Given the description of an element on the screen output the (x, y) to click on. 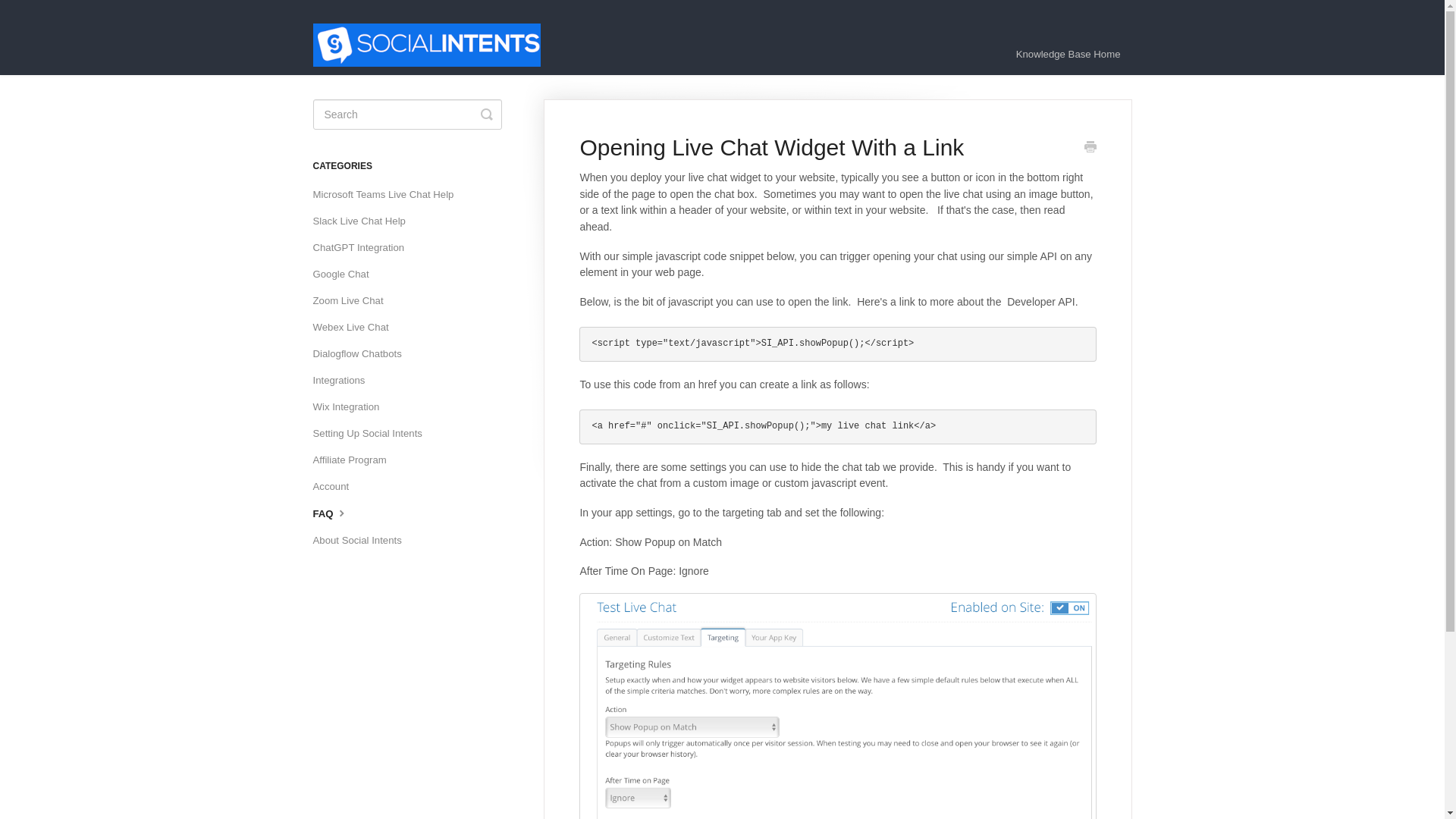
Microsoft Teams Live Chat Help (388, 194)
Account (336, 486)
About Social Intents (362, 540)
Affiliate Program (355, 459)
Wix Integration (351, 406)
Webex Live Chat (355, 327)
Setting Up Social Intents (372, 433)
Slack Live Chat Help (364, 221)
search-query (406, 114)
Knowledge Base Home (1068, 54)
Developer API (1041, 301)
FAQ (337, 513)
Integrations (344, 380)
Zoom Live Chat (353, 300)
ChatGPT Integration (363, 247)
